Given the description of an element on the screen output the (x, y) to click on. 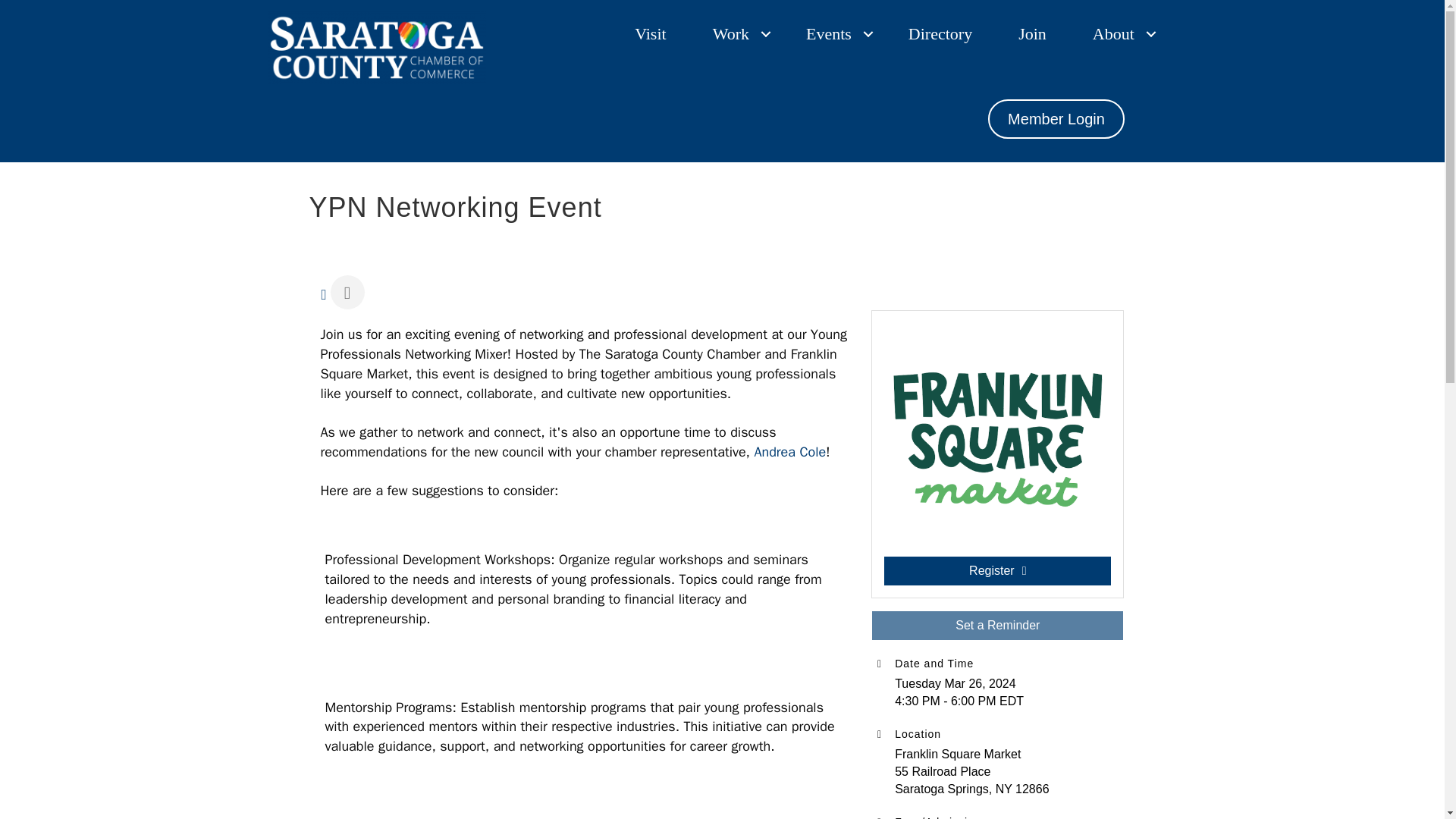
Events (834, 33)
Member Login (1056, 118)
Visit (649, 33)
Register (996, 570)
Set a Reminder (997, 624)
Andrea Cole (789, 451)
Directory (939, 33)
Join (1031, 33)
Work (736, 33)
About (1118, 33)
